Given the description of an element on the screen output the (x, y) to click on. 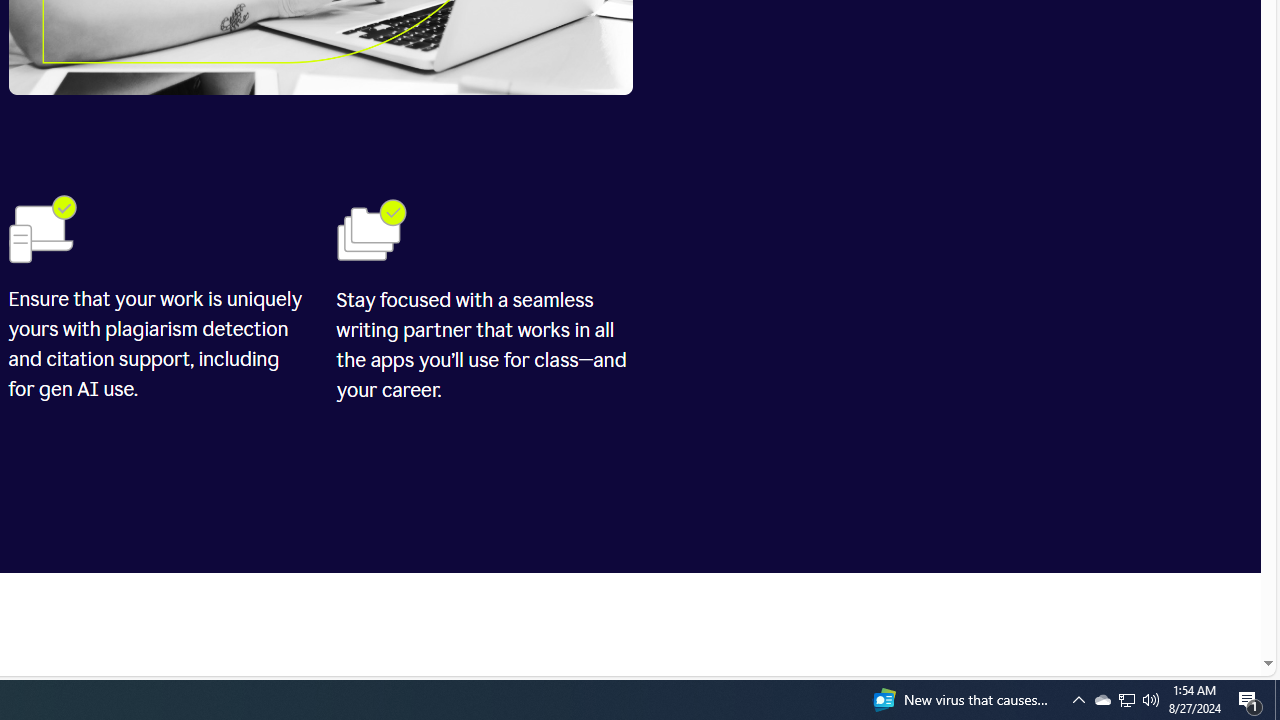
Laptop graphic with green check mark (41, 228)
Folders (371, 228)
